Given the description of an element on the screen output the (x, y) to click on. 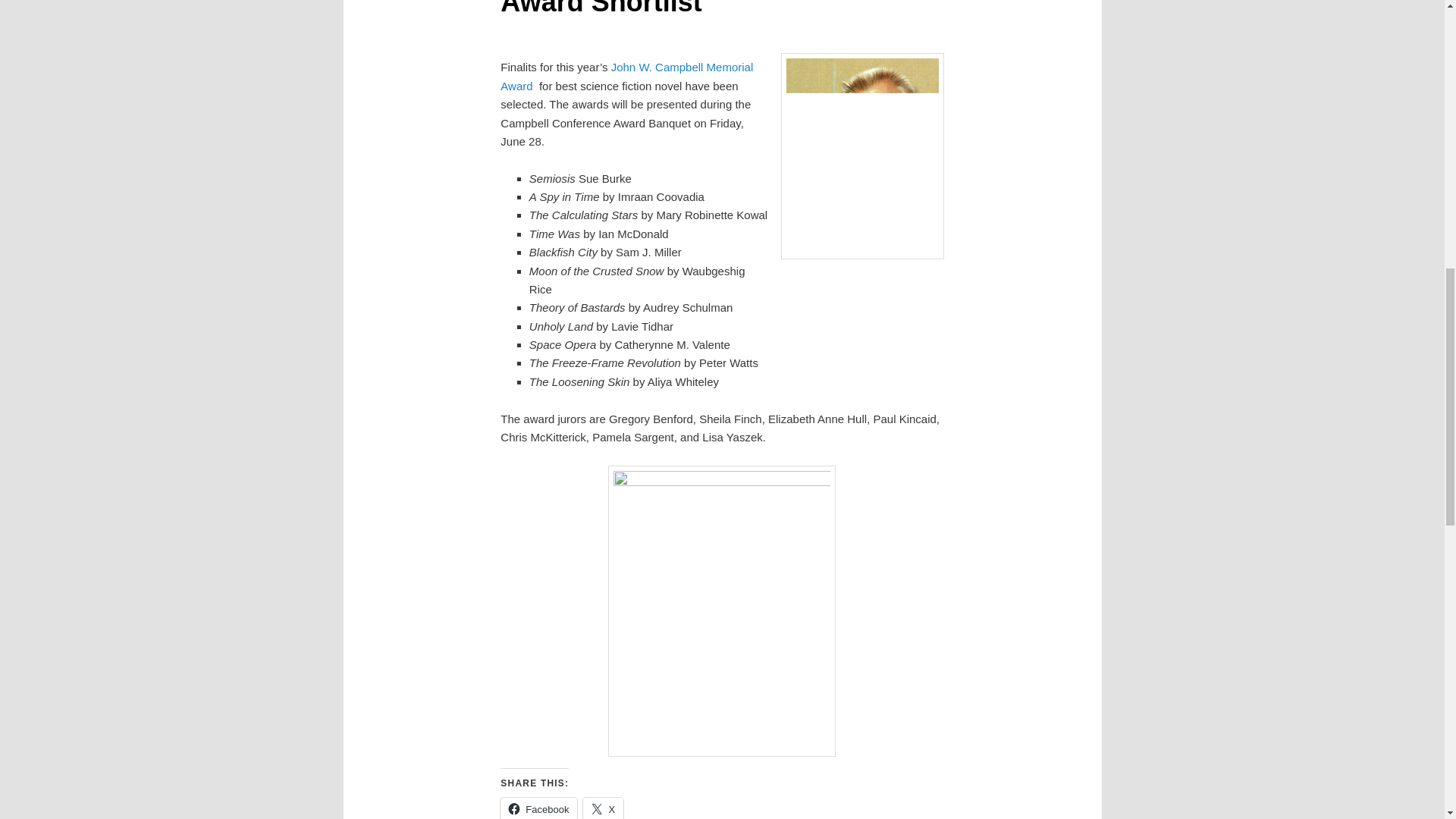
Click to share on X (603, 808)
X (603, 808)
Facebook (538, 808)
Click to share on Facebook (538, 808)
John W. Campbell Memorial Award (626, 75)
